Given the description of an element on the screen output the (x, y) to click on. 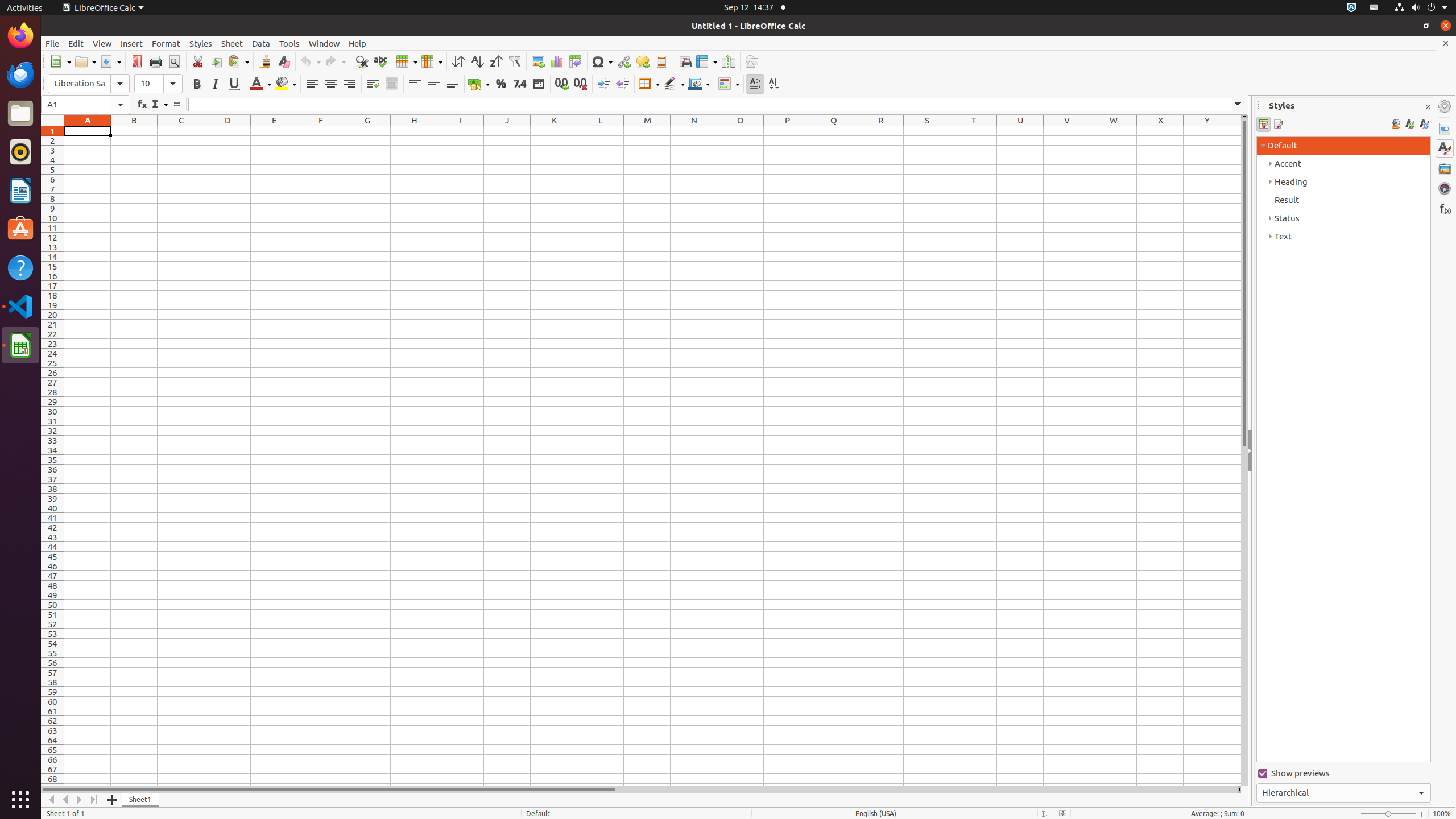
Sheet Sheet1 Element type: table (652, 456)
